Given the description of an element on the screen output the (x, y) to click on. 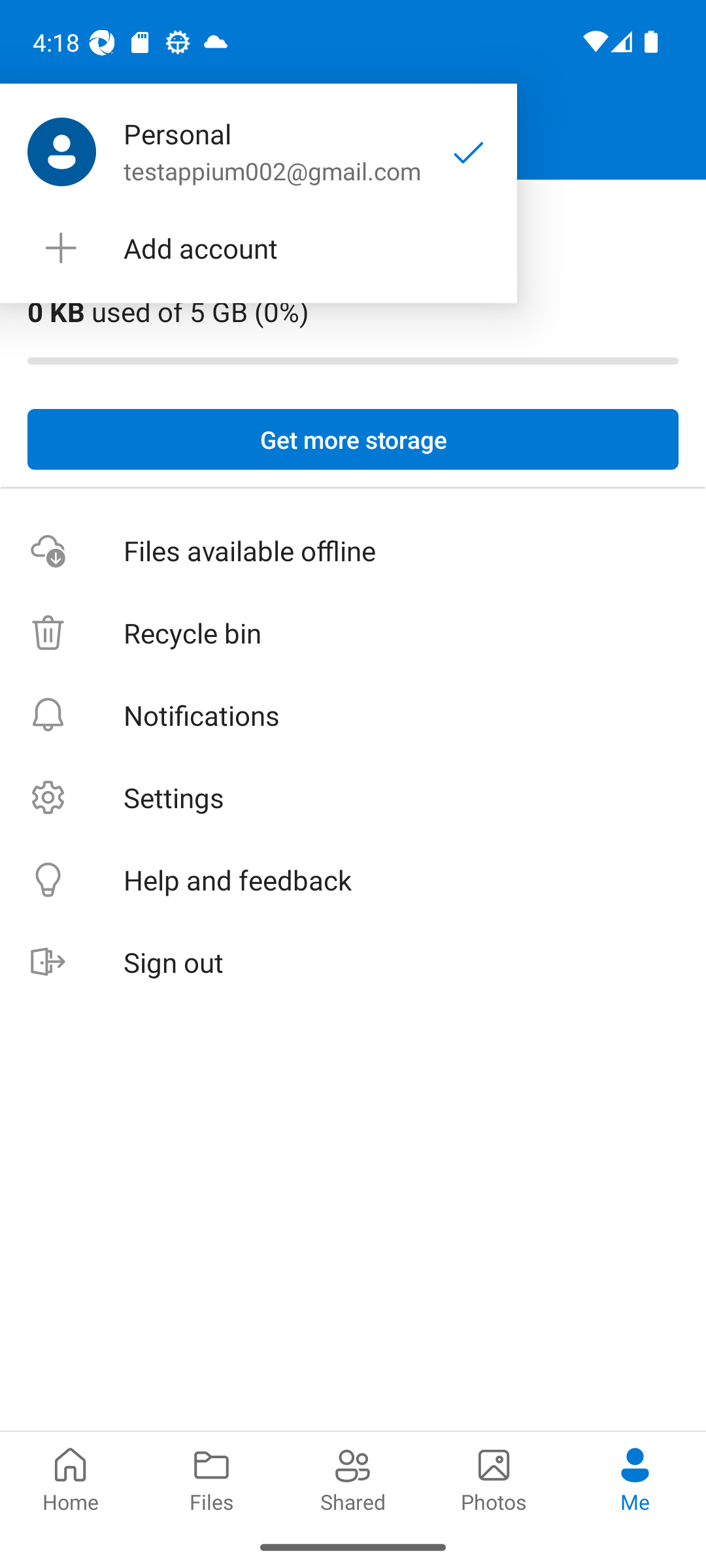
Personal testappium002@gmail.com Checked (258, 151)
Checked (468, 151)
Add account button Add account (258, 248)
